Given the description of an element on the screen output the (x, y) to click on. 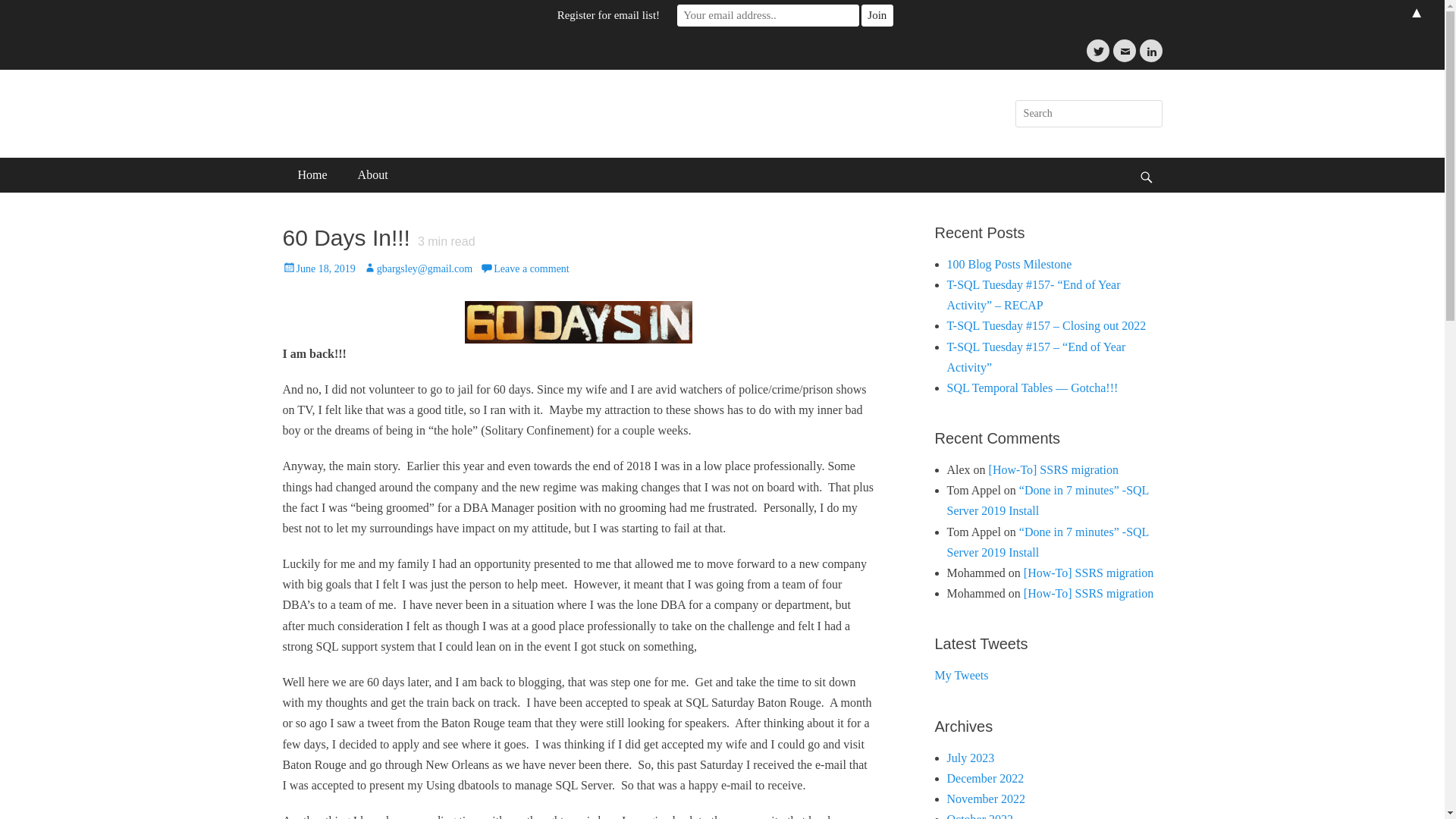
My Tweets (961, 675)
October 2022 (979, 816)
GarryBargsley.com (398, 103)
Home (312, 175)
Search for: (1087, 113)
About (372, 175)
LinkedIn (1149, 50)
100 Blog Posts Milestone (1008, 264)
July 2023 (970, 757)
Leave a comment (524, 268)
